Given the description of an element on the screen output the (x, y) to click on. 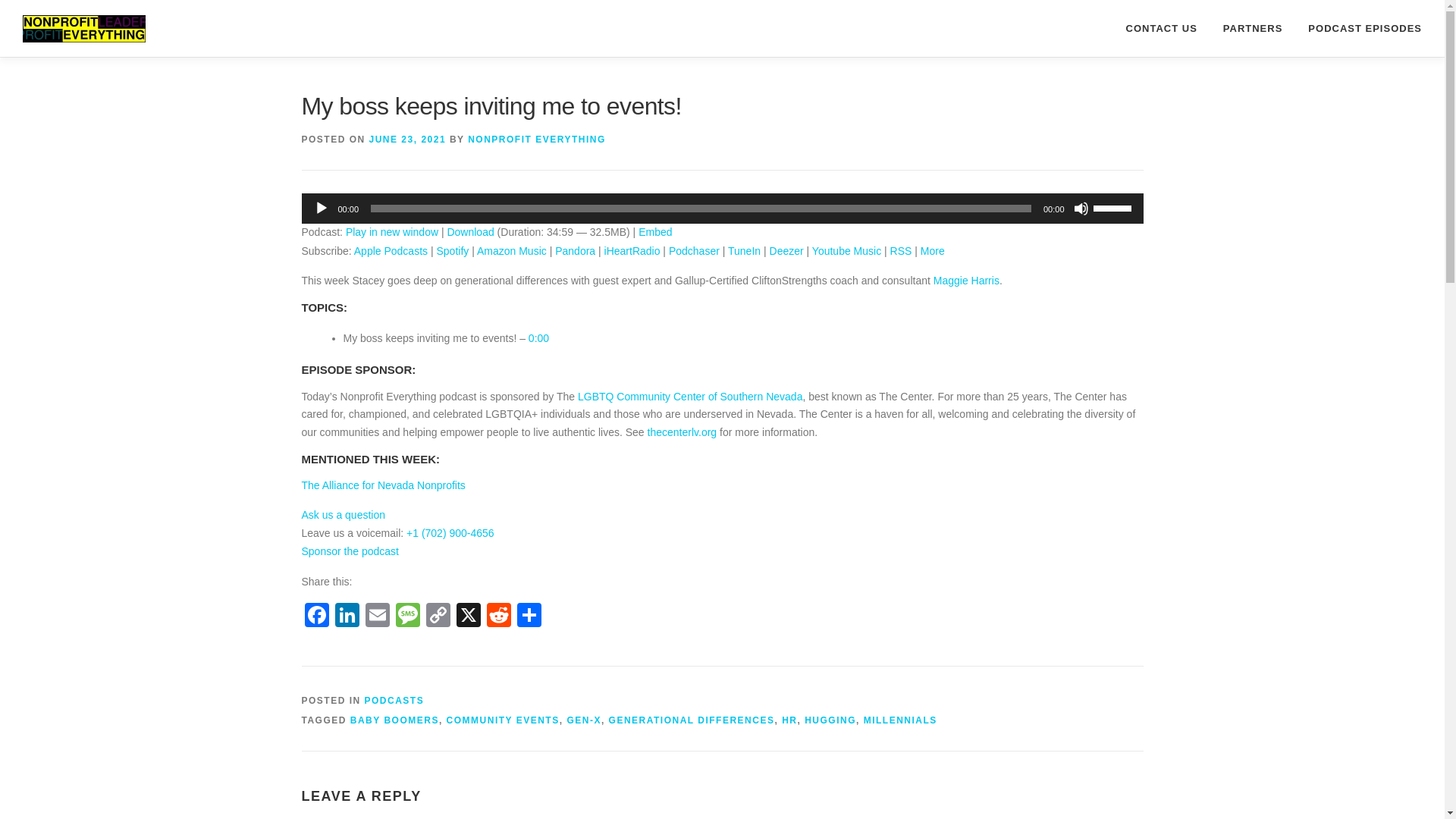
iHeartRadio (632, 250)
thecenterlv.org (682, 431)
Pandora (574, 250)
Play in new window (392, 232)
Deezer (786, 250)
Play in new window (392, 232)
Maggie Harris (965, 280)
Subscribe on Amazon Music (512, 250)
TuneIn (744, 250)
More (932, 250)
Embed (655, 232)
JUNE 23, 2021 (407, 139)
Embed (655, 232)
More (932, 250)
Subscribe via RSS (900, 250)
